Given the description of an element on the screen output the (x, y) to click on. 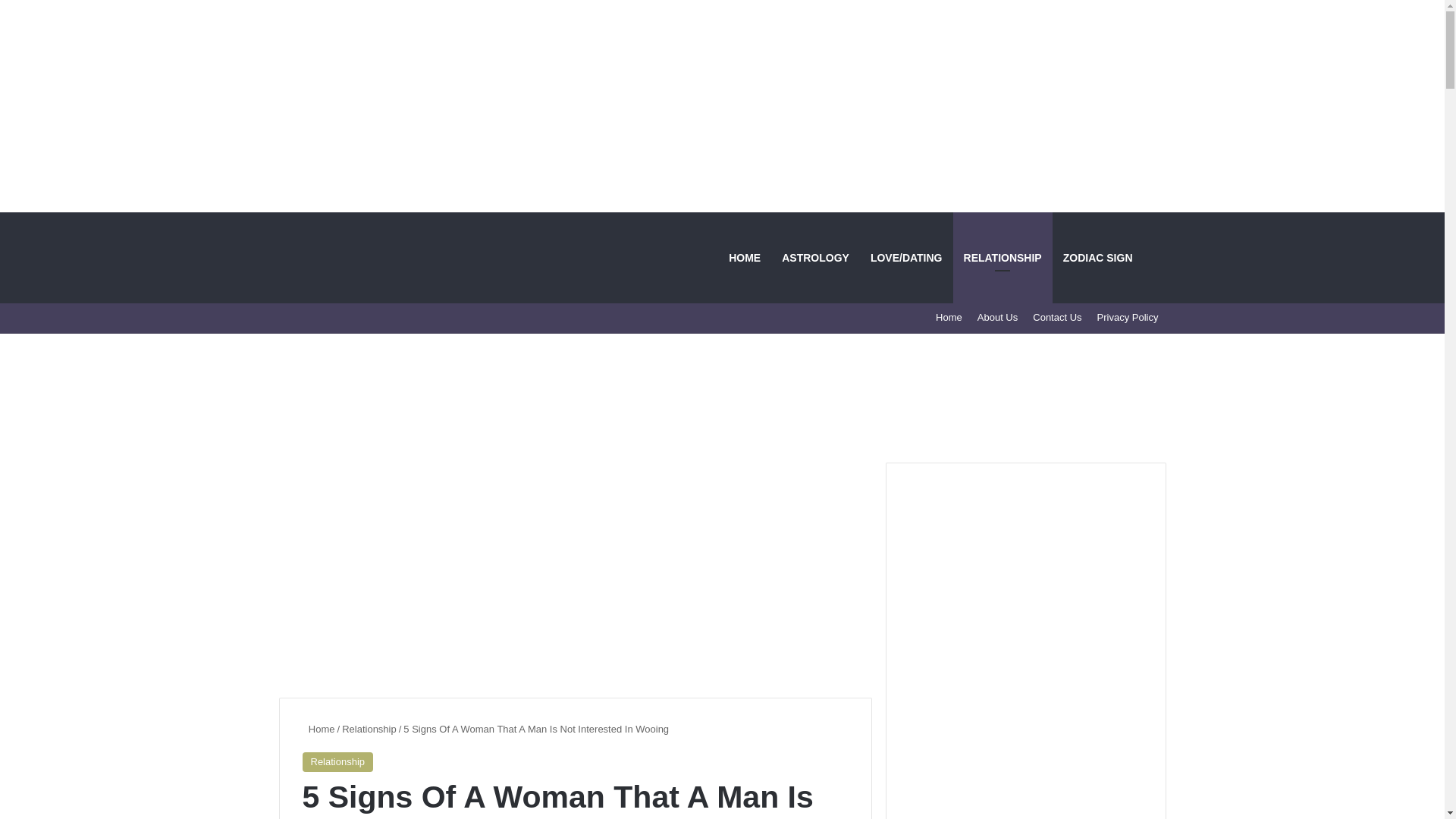
Home (948, 317)
Home (317, 728)
Contact Us (1057, 317)
ASTROLOGY (815, 257)
Privacy Policy (1127, 317)
Relationship (336, 762)
Relationship (369, 728)
RELATIONSHIP (1002, 257)
ZODIAC SIGN (1097, 257)
About Us (997, 317)
